Given the description of an element on the screen output the (x, y) to click on. 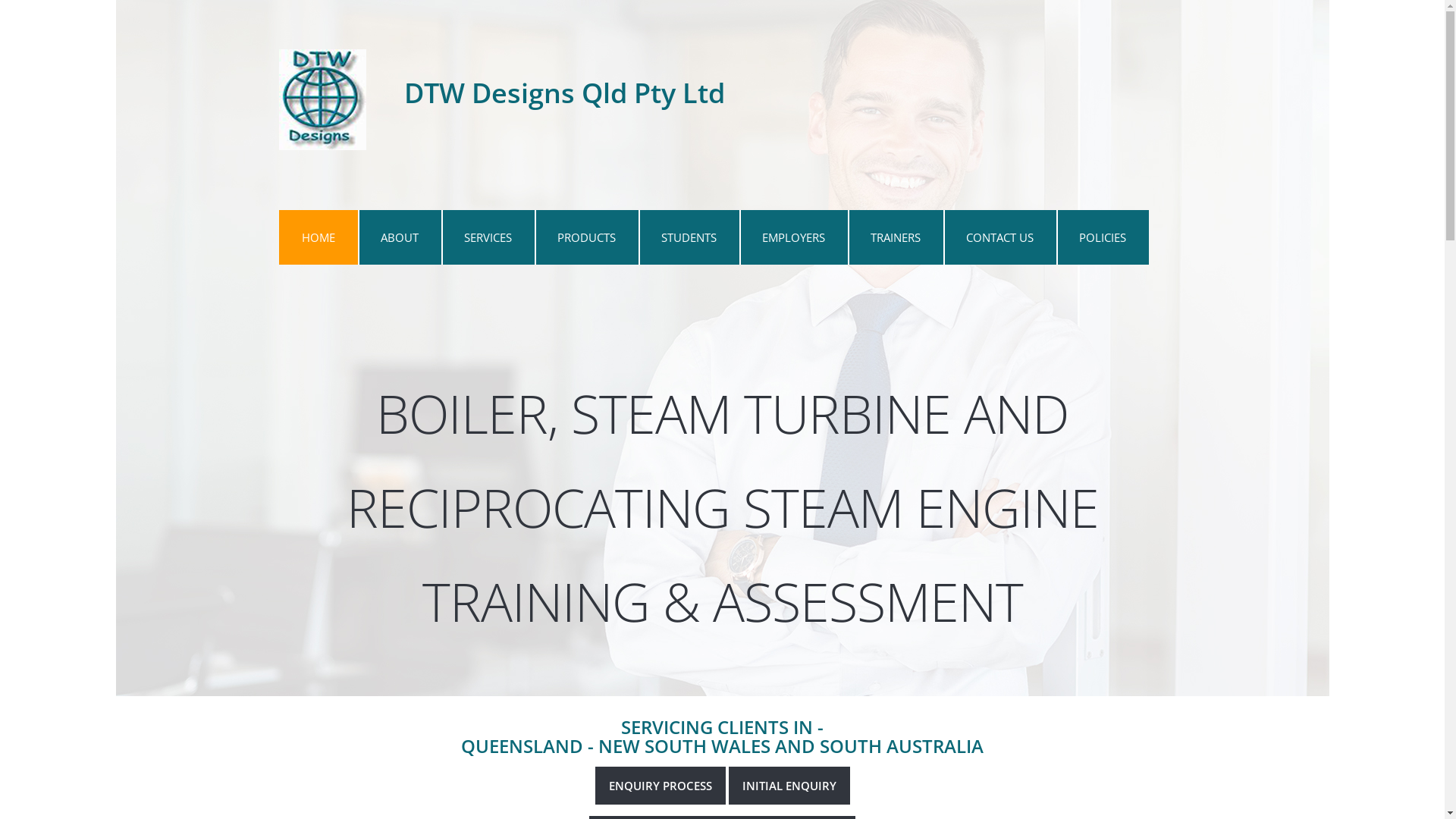
SERVICES Element type: text (487, 237)
ABOUT Element type: text (399, 237)
EMPLOYERS Element type: text (792, 237)
HOME Element type: text (318, 237)
STUDENTS Element type: text (688, 237)
CONTACT US Element type: text (999, 237)
INITIAL ENQUIRY Element type: text (788, 785)
PRODUCTS Element type: text (585, 237)
POLICIES Element type: text (1101, 237)
ENQUIRY PROCESS Element type: text (659, 785)
DTW Designs Qld Pty Ltd Element type: text (501, 98)
TRAINERS Element type: text (895, 237)
